Given the description of an element on the screen output the (x, y) to click on. 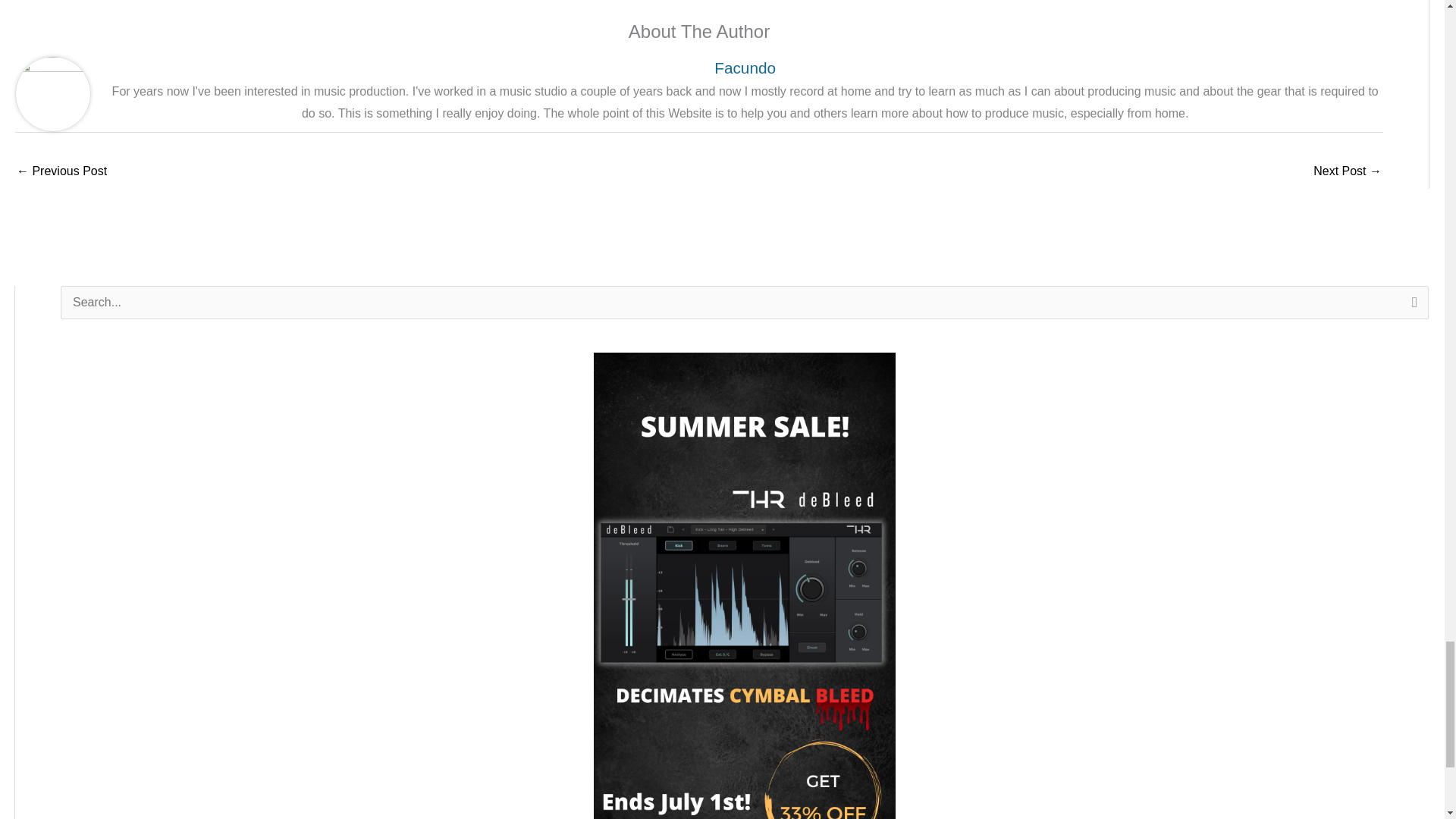
FL Studio Basics: How to Record Vocals or Audio in General! (1347, 172)
How to Plug a USB Microphone into a Mixer; Step by Step! (61, 172)
